Given the description of an element on the screen output the (x, y) to click on. 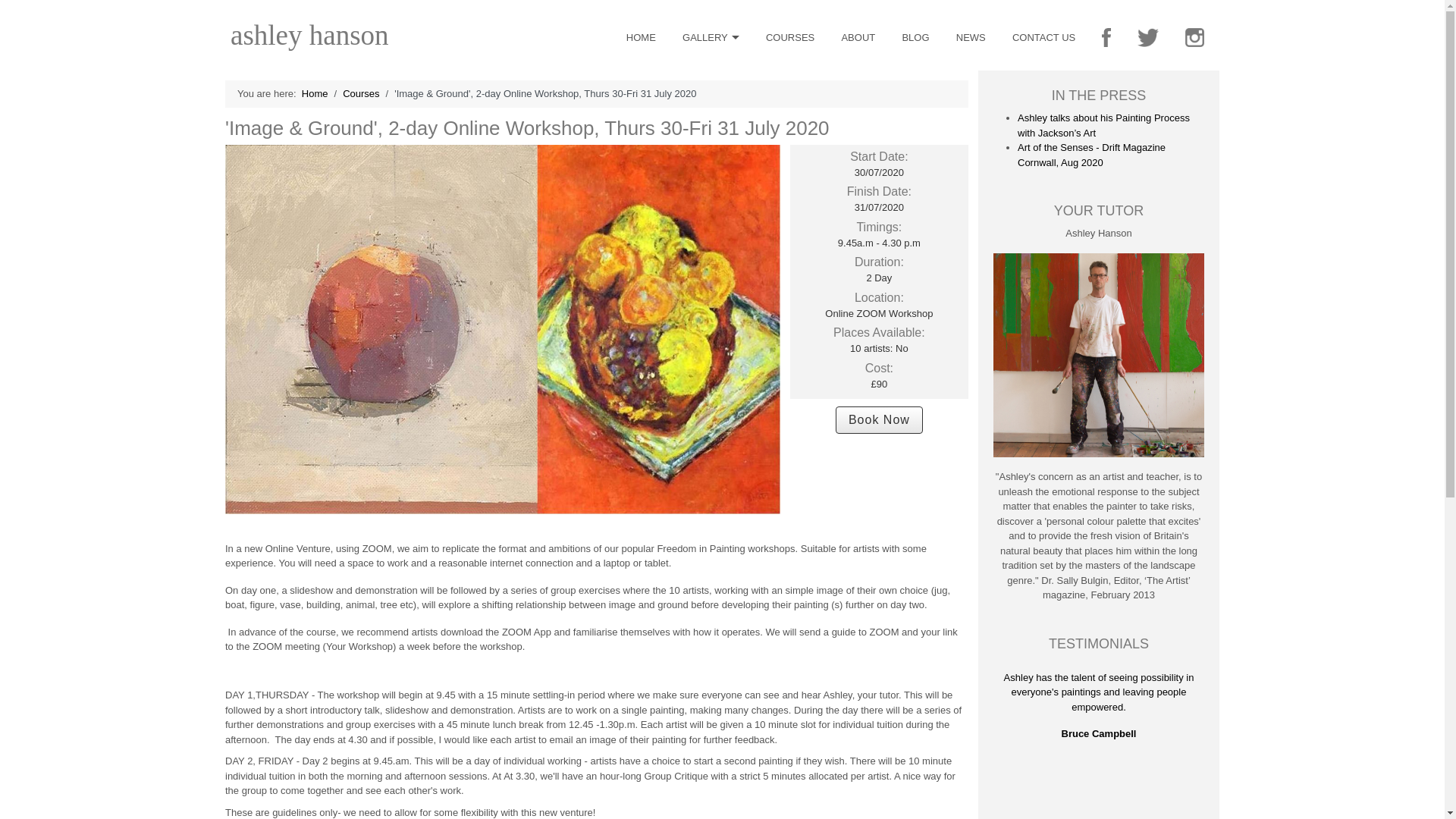
Ashley Hanson (310, 35)
ABOUT (858, 37)
ashley hanson (310, 32)
CONTACT US (1043, 37)
GALLERY (710, 36)
Art of the Senses - Drift Magazine Cornwall, Aug 2020 (1091, 154)
NEWS (970, 37)
COURSES (789, 37)
Home (315, 93)
HOME (641, 37)
